Given the description of an element on the screen output the (x, y) to click on. 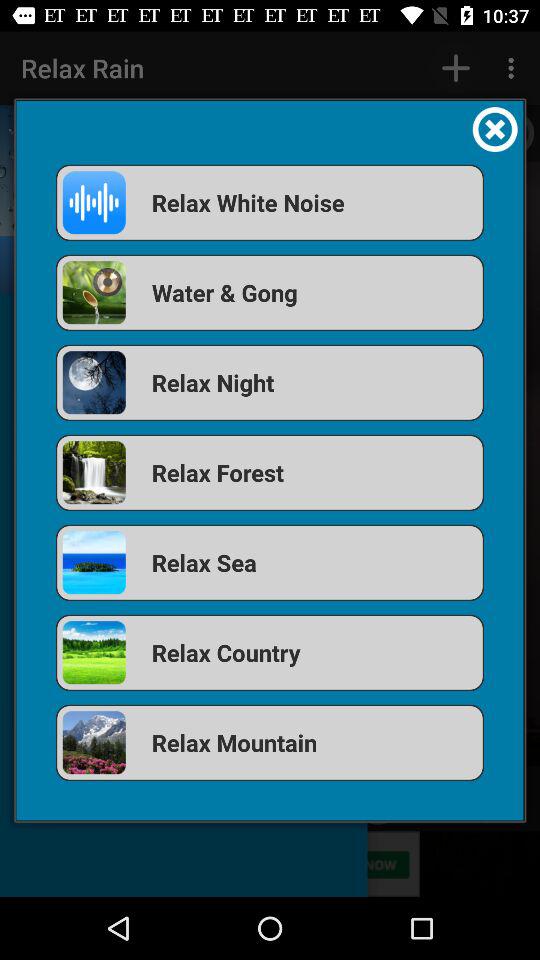
turn off relax country icon (269, 652)
